Given the description of an element on the screen output the (x, y) to click on. 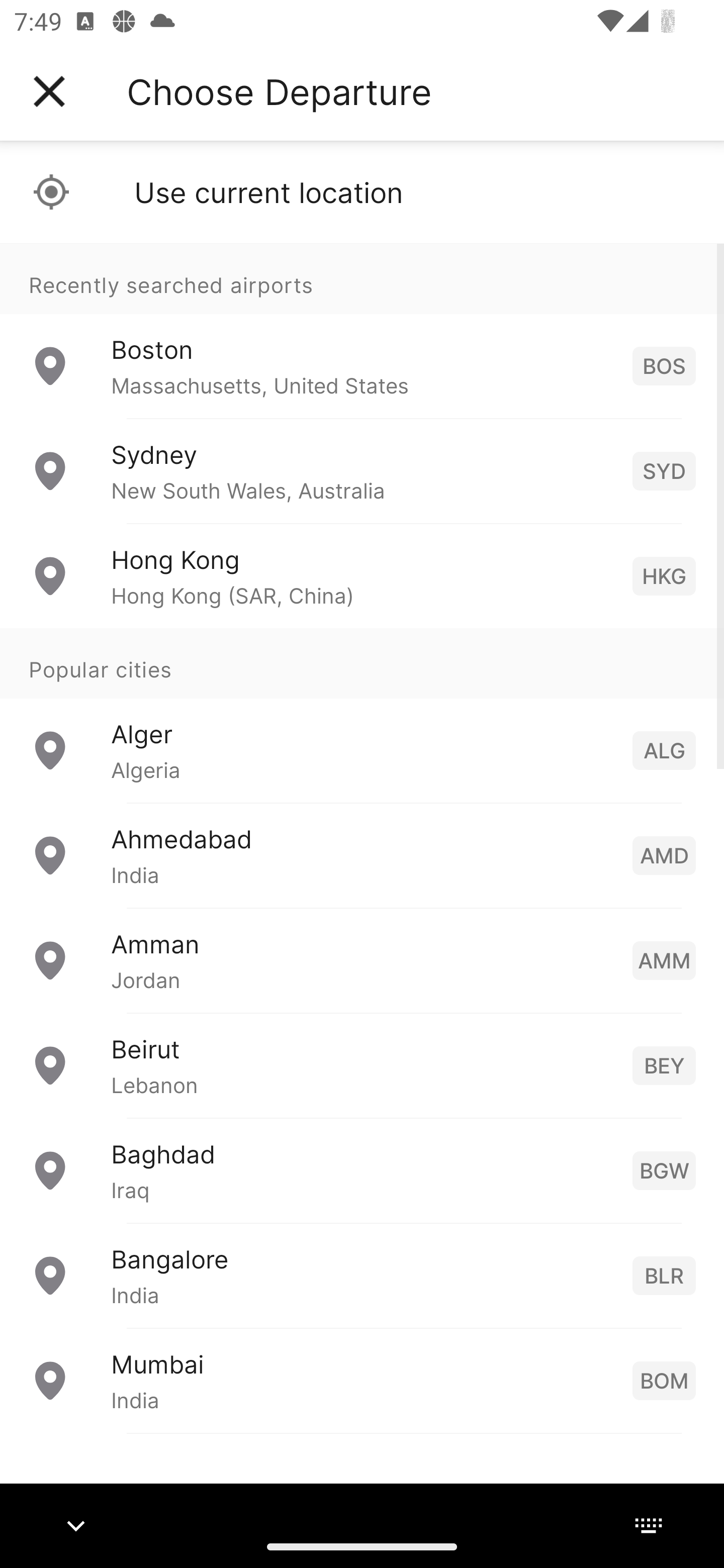
Choose Departure (279, 91)
Use current location (362, 192)
Recently searched airports (362, 278)
Sydney New South Wales, Australia SYD (362, 470)
Hong Kong Hong Kong (SAR, China) HKG (362, 575)
Popular cities Alger Algeria ALG (362, 715)
Popular cities (362, 663)
Ahmedabad India AMD (362, 854)
Amman Jordan AMM (362, 959)
Beirut Lebanon BEY (362, 1064)
Baghdad Iraq BGW (362, 1170)
Bangalore India BLR (362, 1275)
Mumbai India BOM (362, 1380)
